Given the description of an element on the screen output the (x, y) to click on. 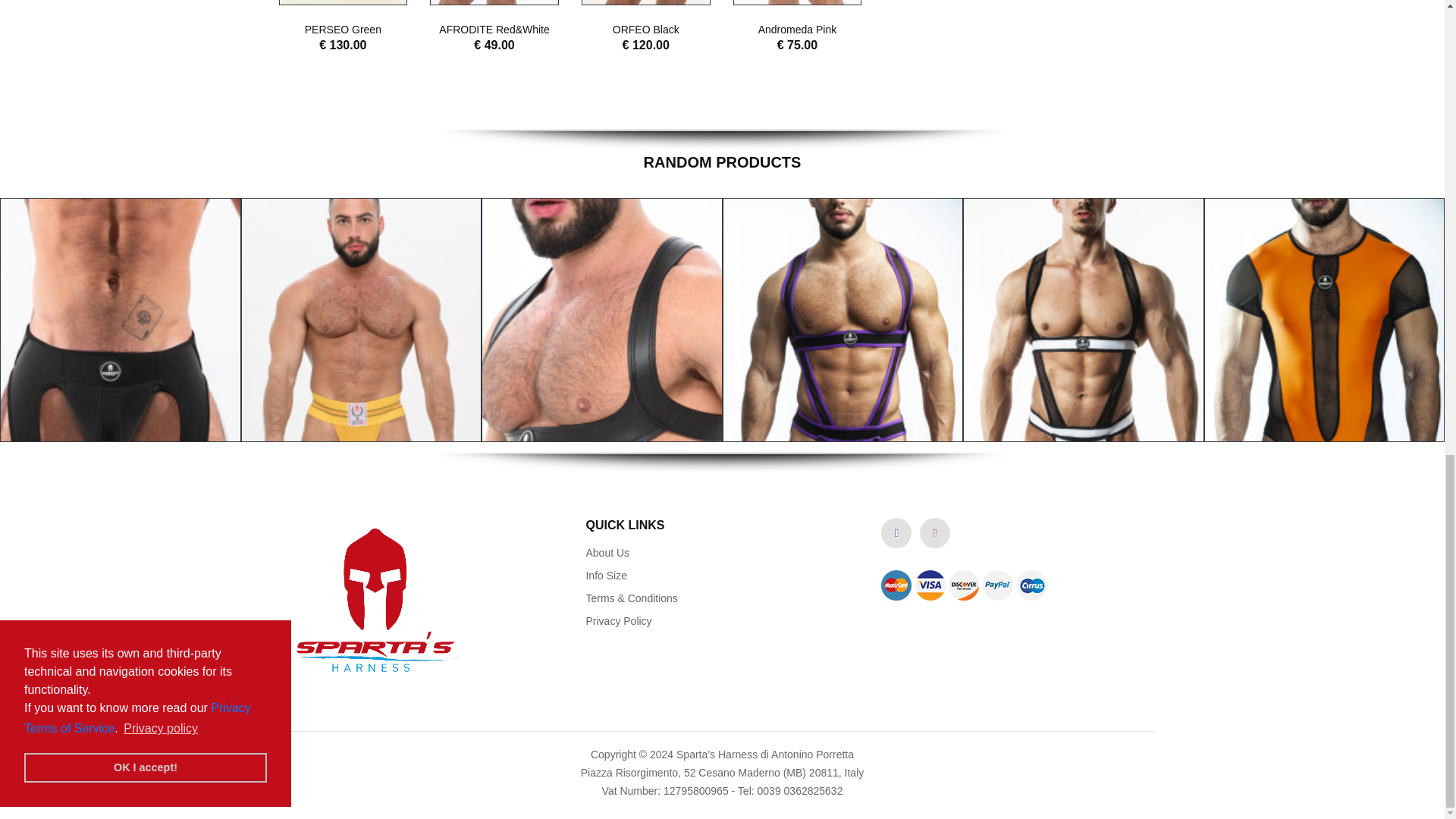
PERSEO Green (342, 29)
Andromeda Pink (797, 29)
ORFEO Black (645, 29)
